Given the description of an element on the screen output the (x, y) to click on. 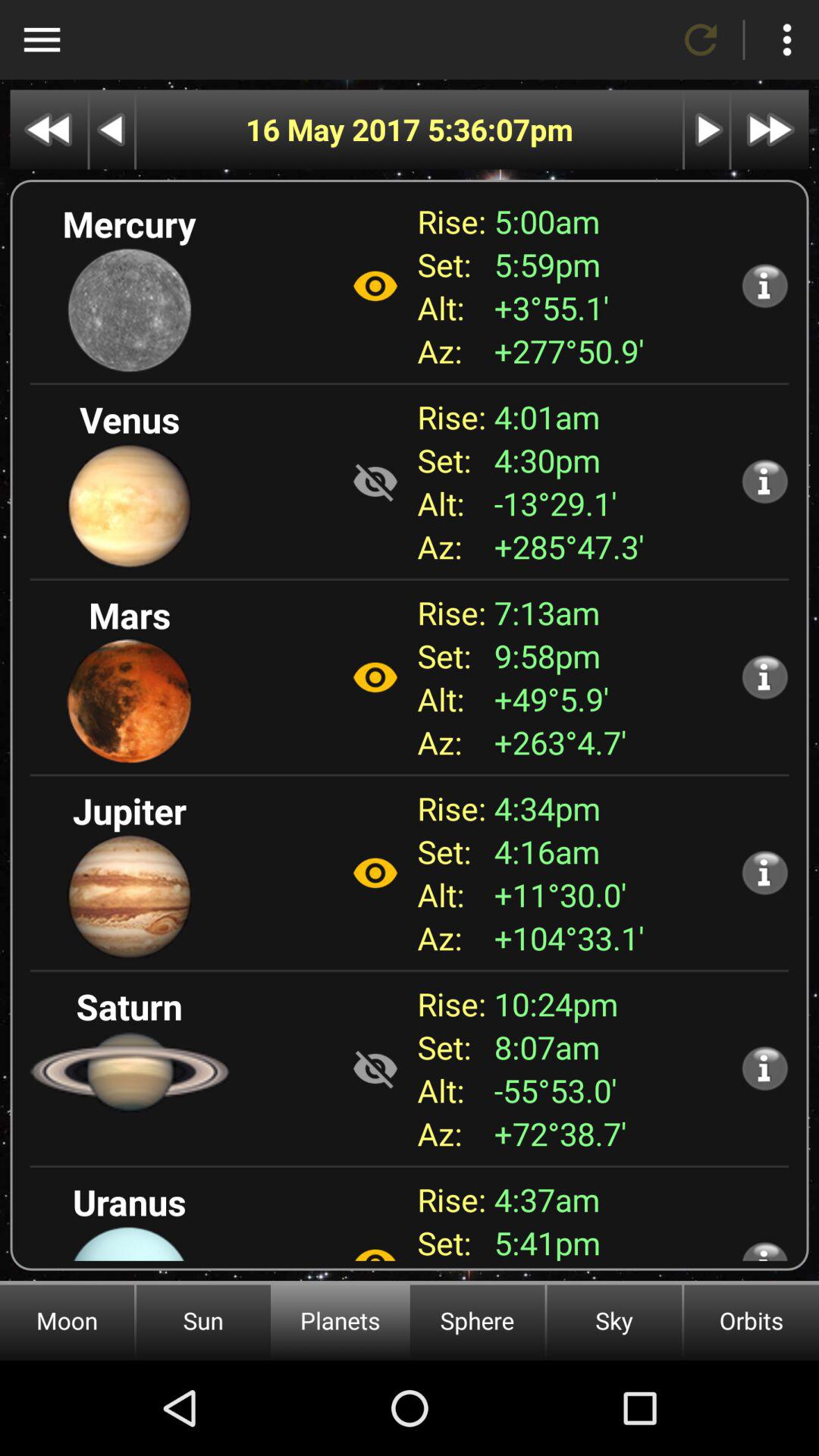
go back (111, 129)
